Given the description of an element on the screen output the (x, y) to click on. 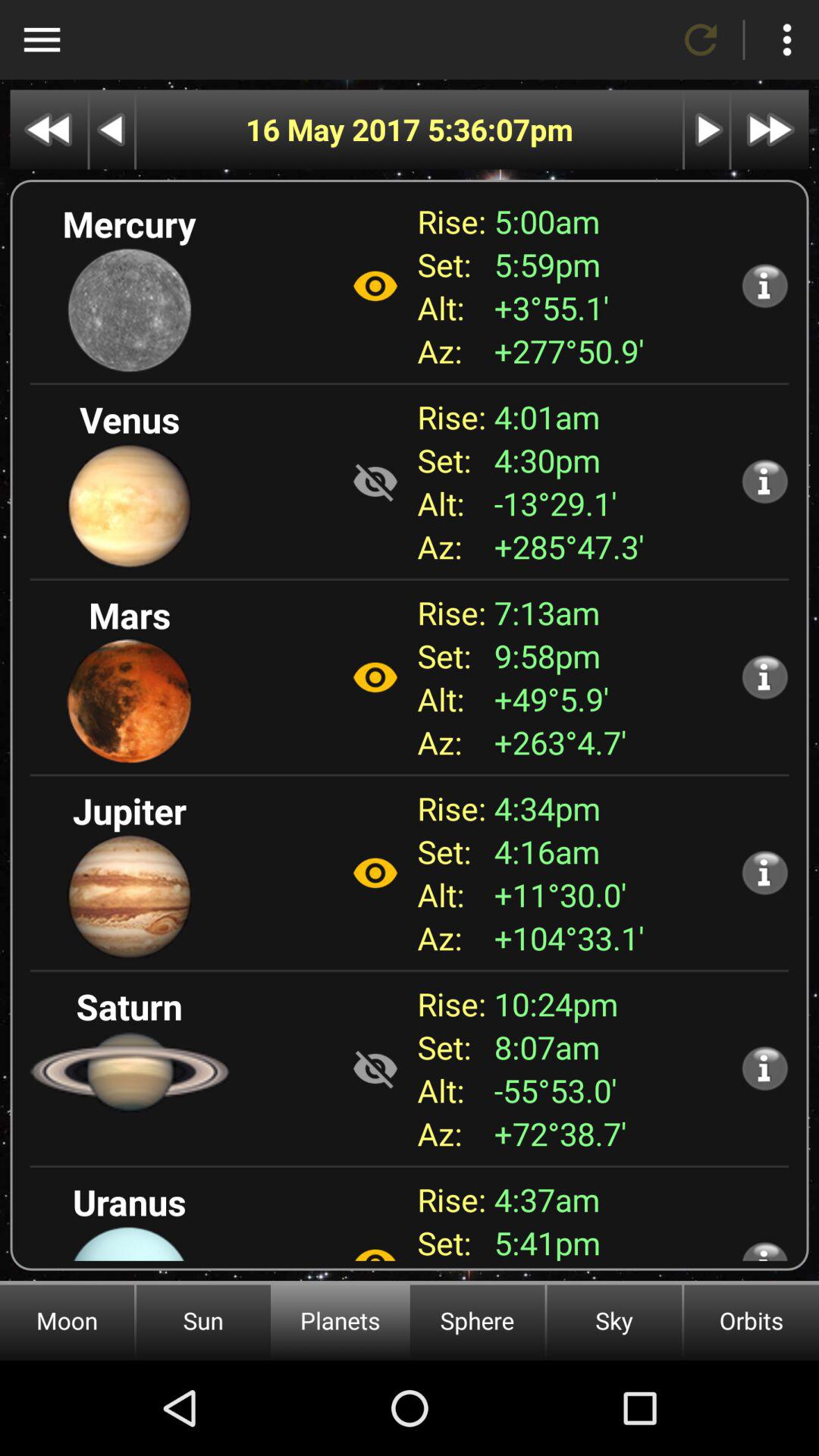
go back (111, 129)
